Given the description of an element on the screen output the (x, y) to click on. 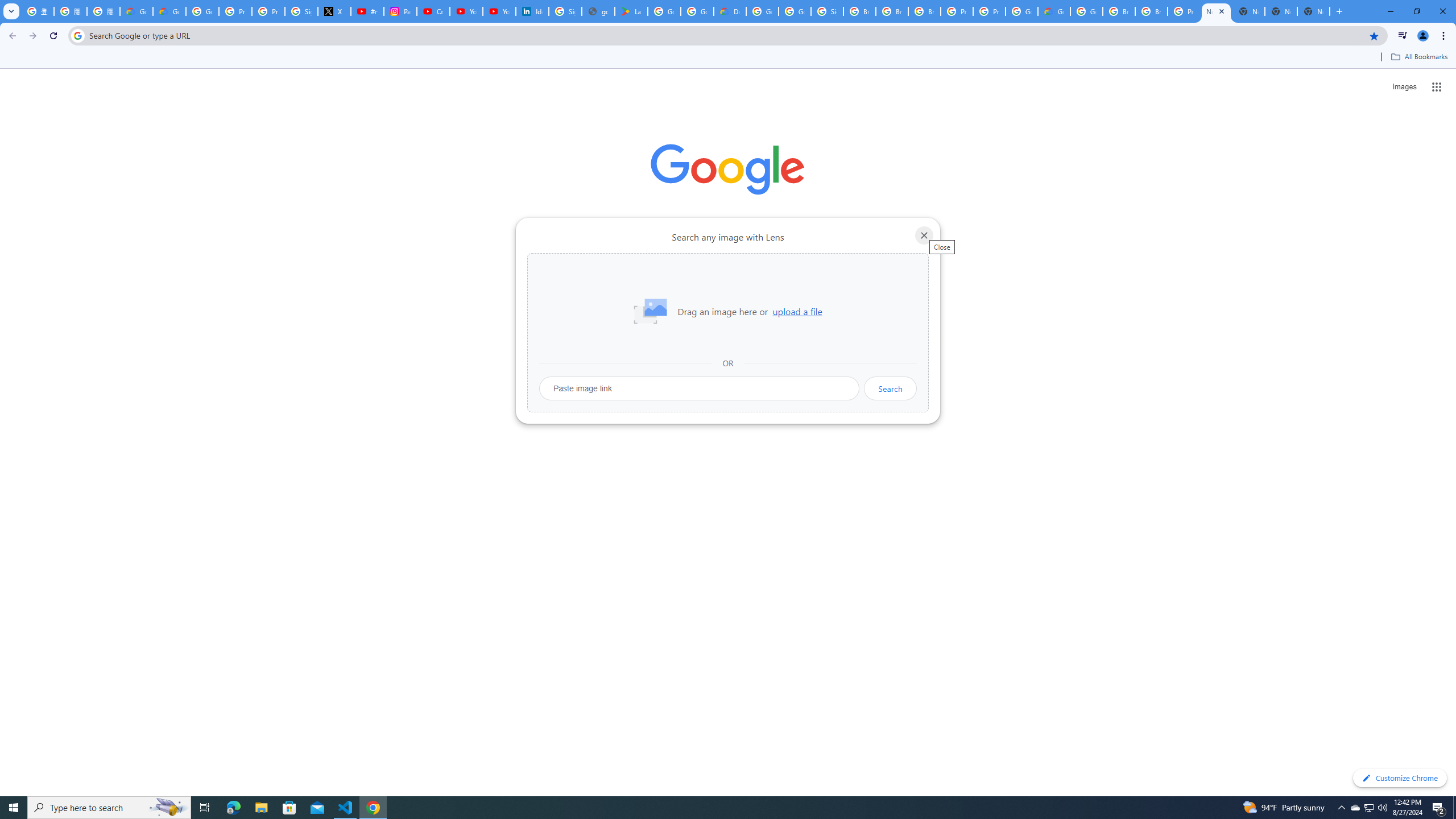
Search for Images  (1403, 87)
Google Cloud Privacy Notice (136, 11)
google_privacy_policy_en.pdf (598, 11)
